Given the description of an element on the screen output the (x, y) to click on. 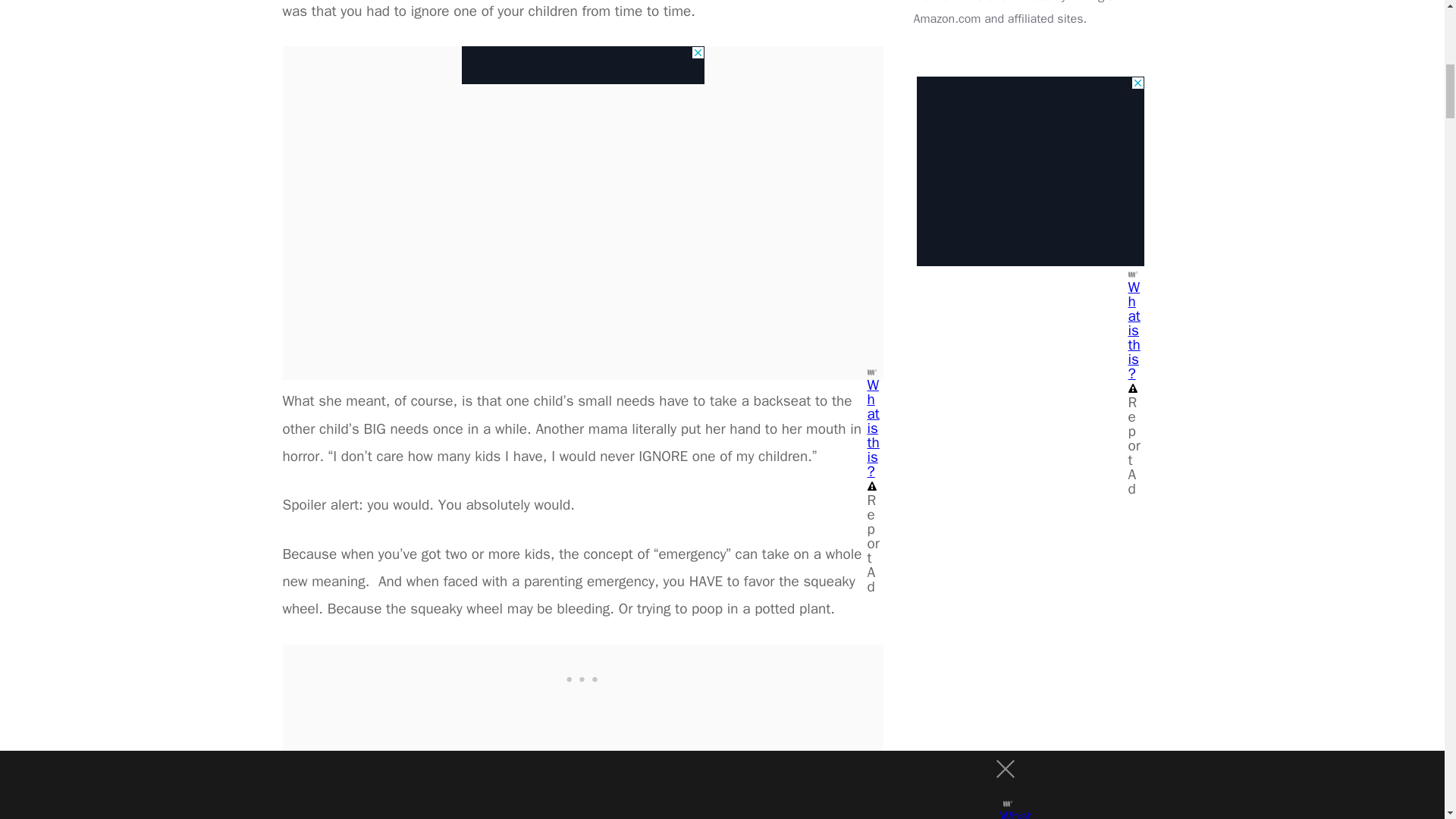
Scroll back to top (1406, 720)
3rd party ad content (582, 64)
3rd party ad content (582, 678)
3rd party ad content (1028, 171)
